Given the description of an element on the screen output the (x, y) to click on. 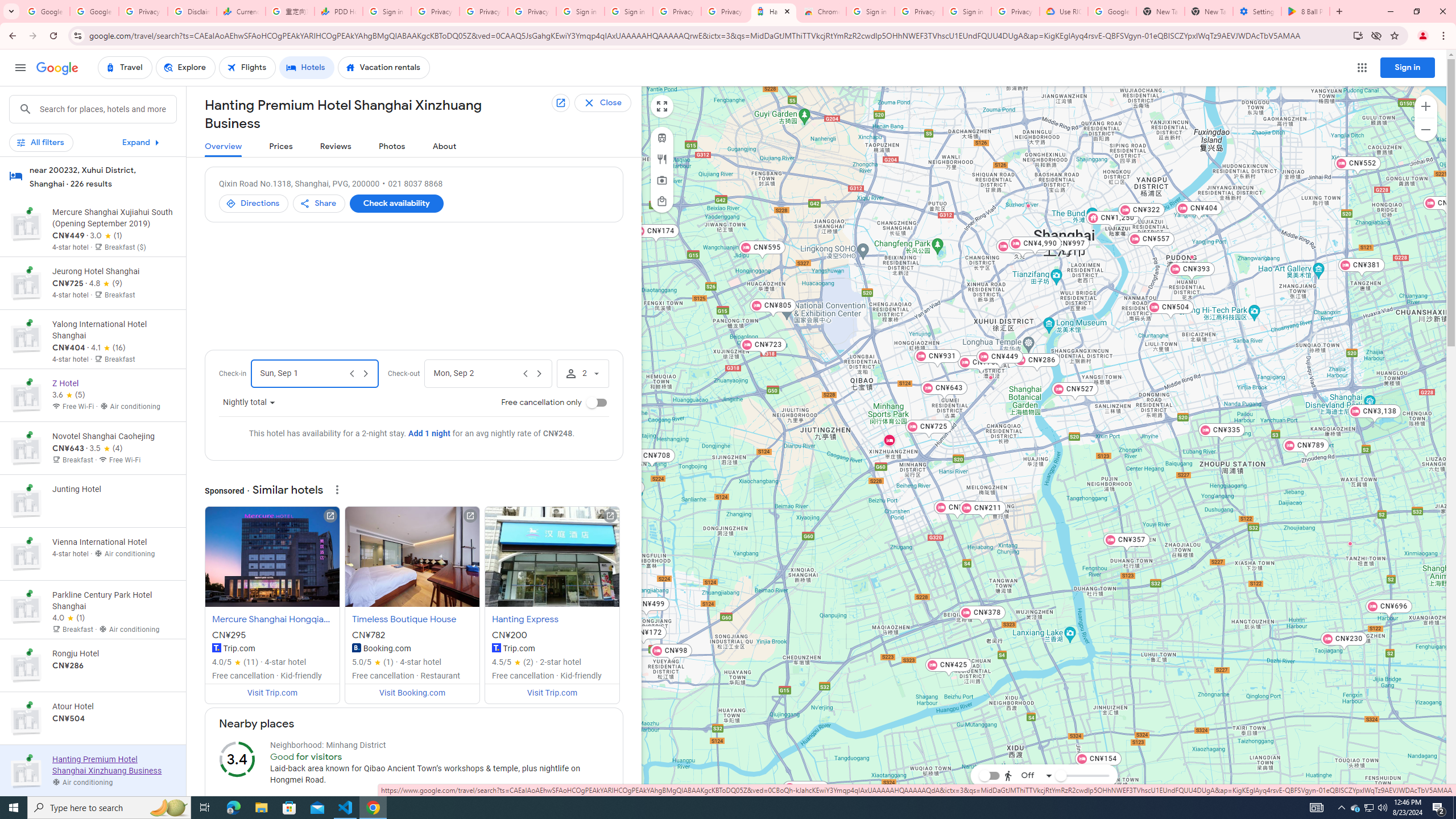
4.1 out of 5 stars from 16 reviews (107, 347)
Privacy Checkup (483, 11)
Sign in - Google Accounts (966, 11)
Reviews (335, 146)
Google Workspace Admin Community (45, 11)
Install Trips all in one place (1358, 35)
